Given the description of an element on the screen output the (x, y) to click on. 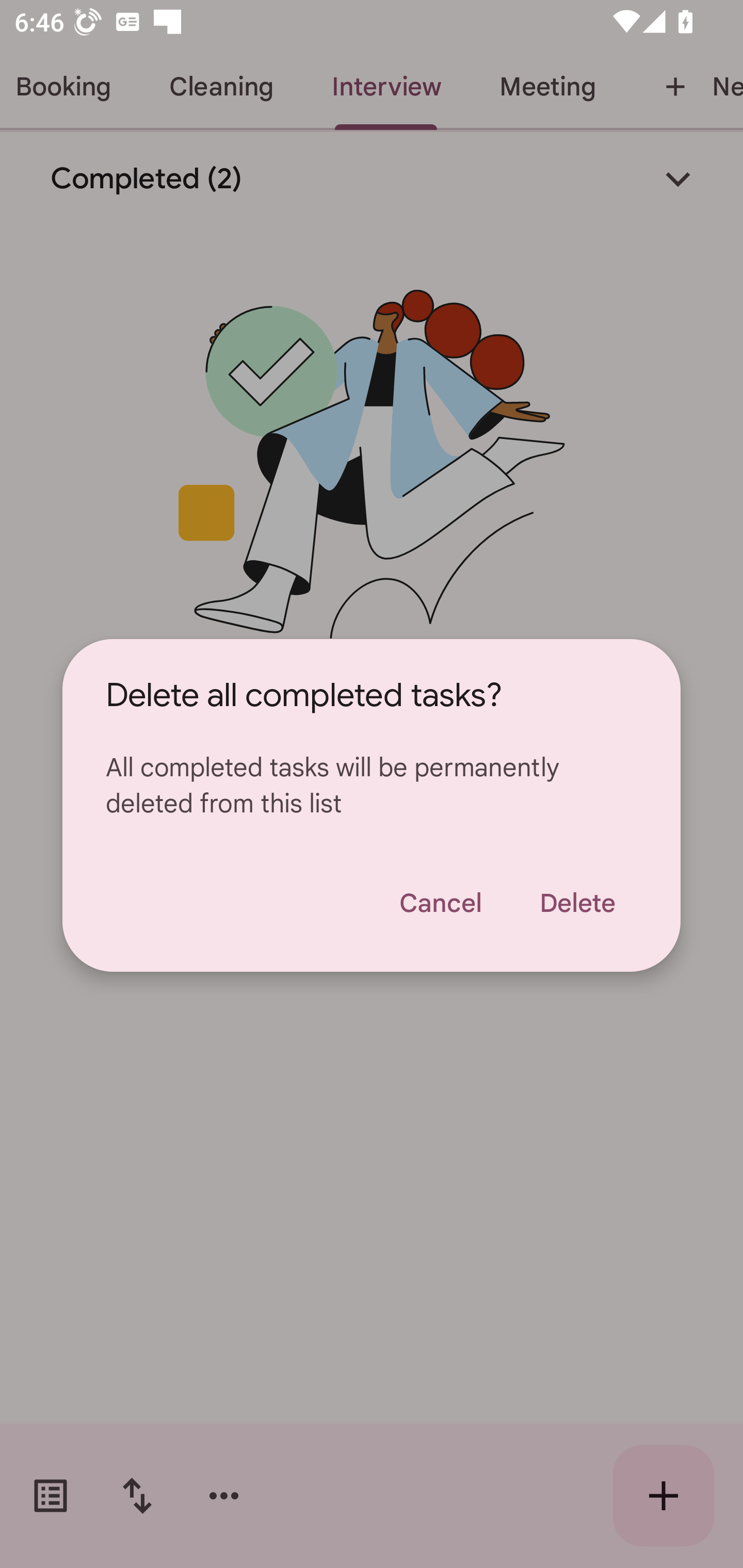
Cancel (440, 903)
Delete (577, 903)
